Given the description of an element on the screen output the (x, y) to click on. 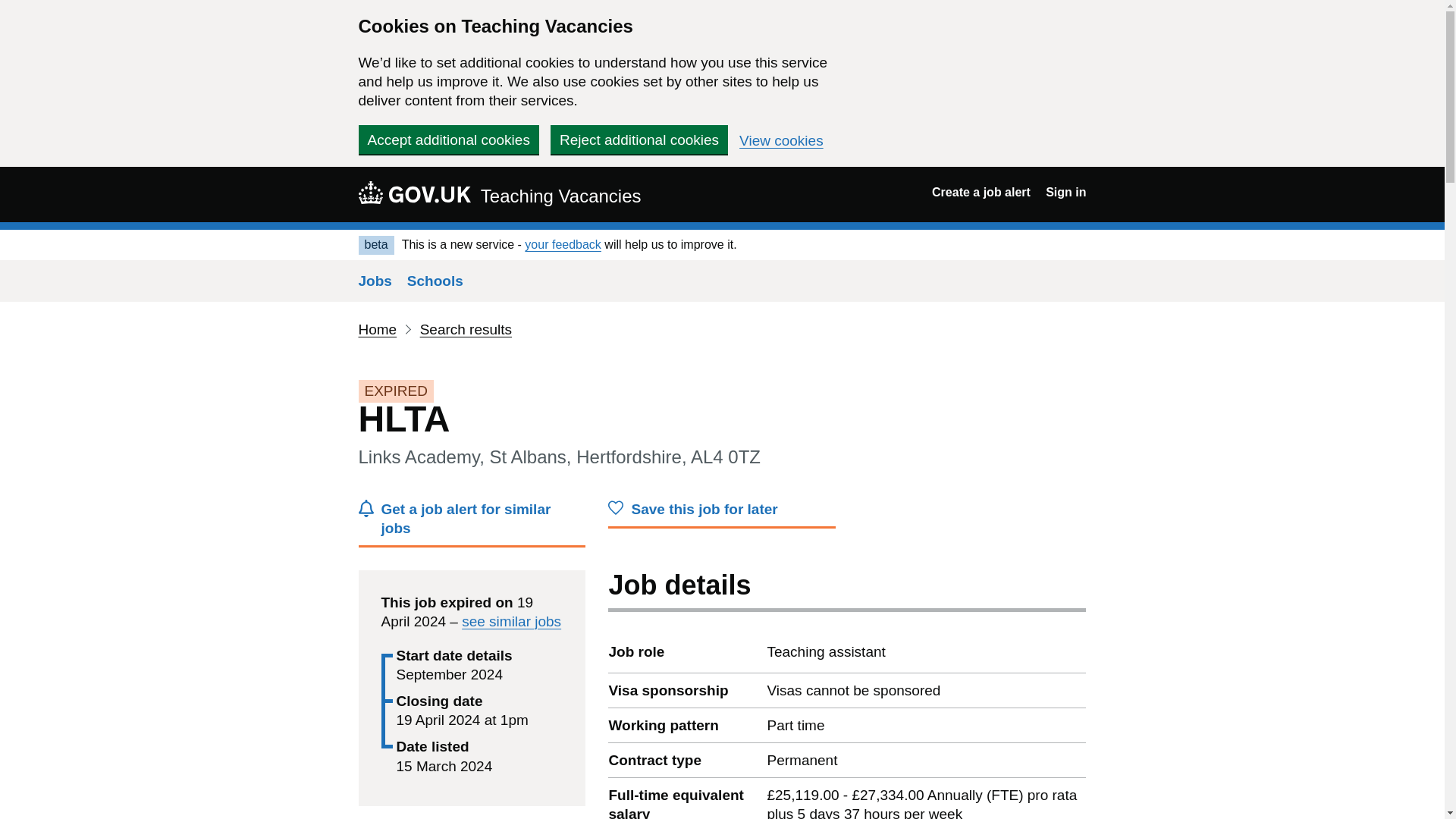
GOV.UK (414, 191)
GOV.UK Teaching Vacancies (499, 194)
Reject additional cookies (639, 139)
Accept additional cookies (448, 139)
Schools (435, 281)
View cookies (781, 140)
Search results (466, 329)
your feedback (562, 244)
Save this job for later (721, 513)
